Given the description of an element on the screen output the (x, y) to click on. 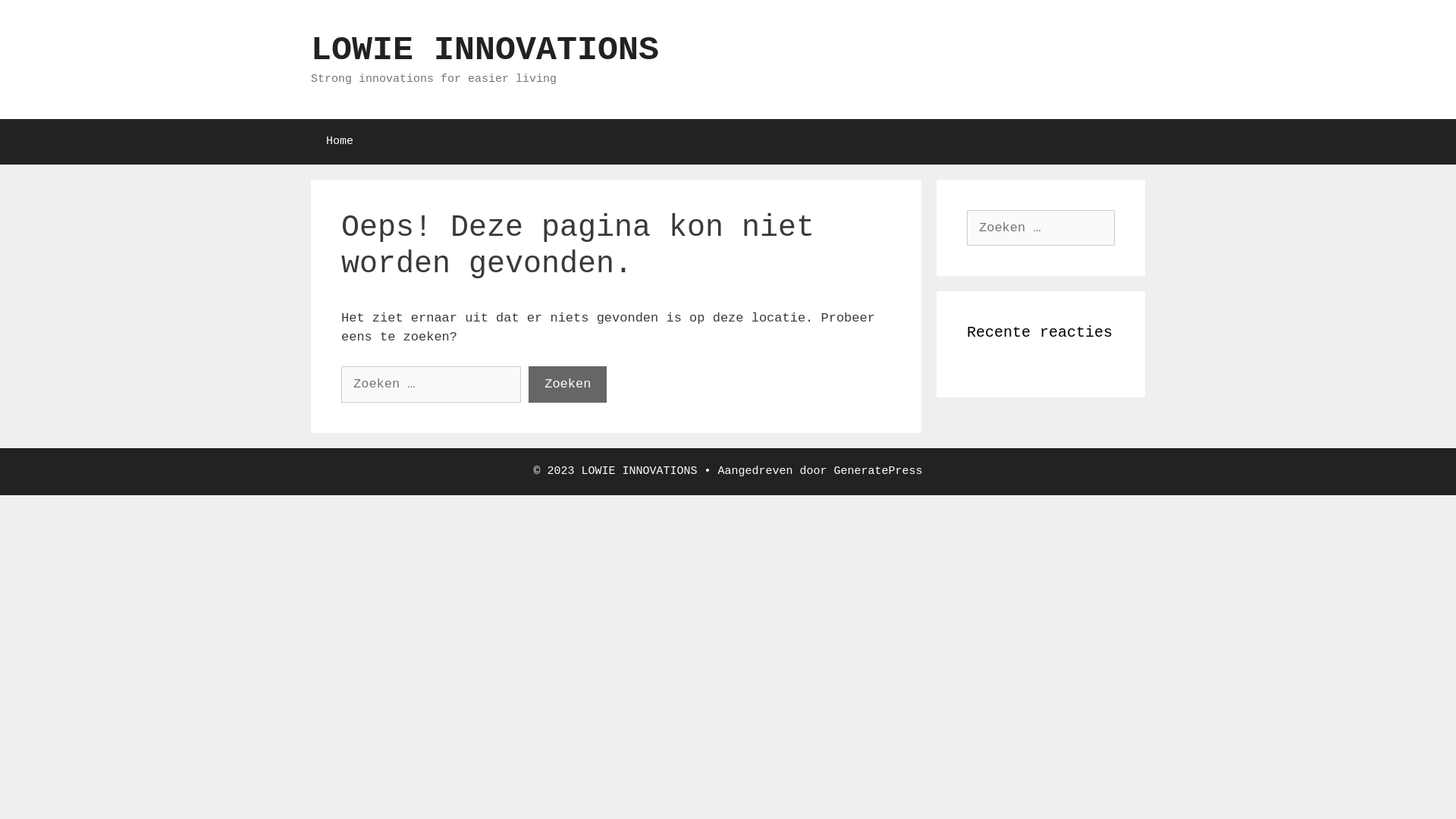
Zoek naar: Element type: hover (430, 384)
Zoeken Element type: text (567, 384)
Spring naar inhoud Element type: text (0, 0)
LOWIE INNOVATIONS Element type: text (484, 50)
Home Element type: text (339, 140)
GeneratePress Element type: text (878, 470)
Zoeken Element type: text (39, 18)
Zoek naar: Element type: hover (1040, 227)
